Given the description of an element on the screen output the (x, y) to click on. 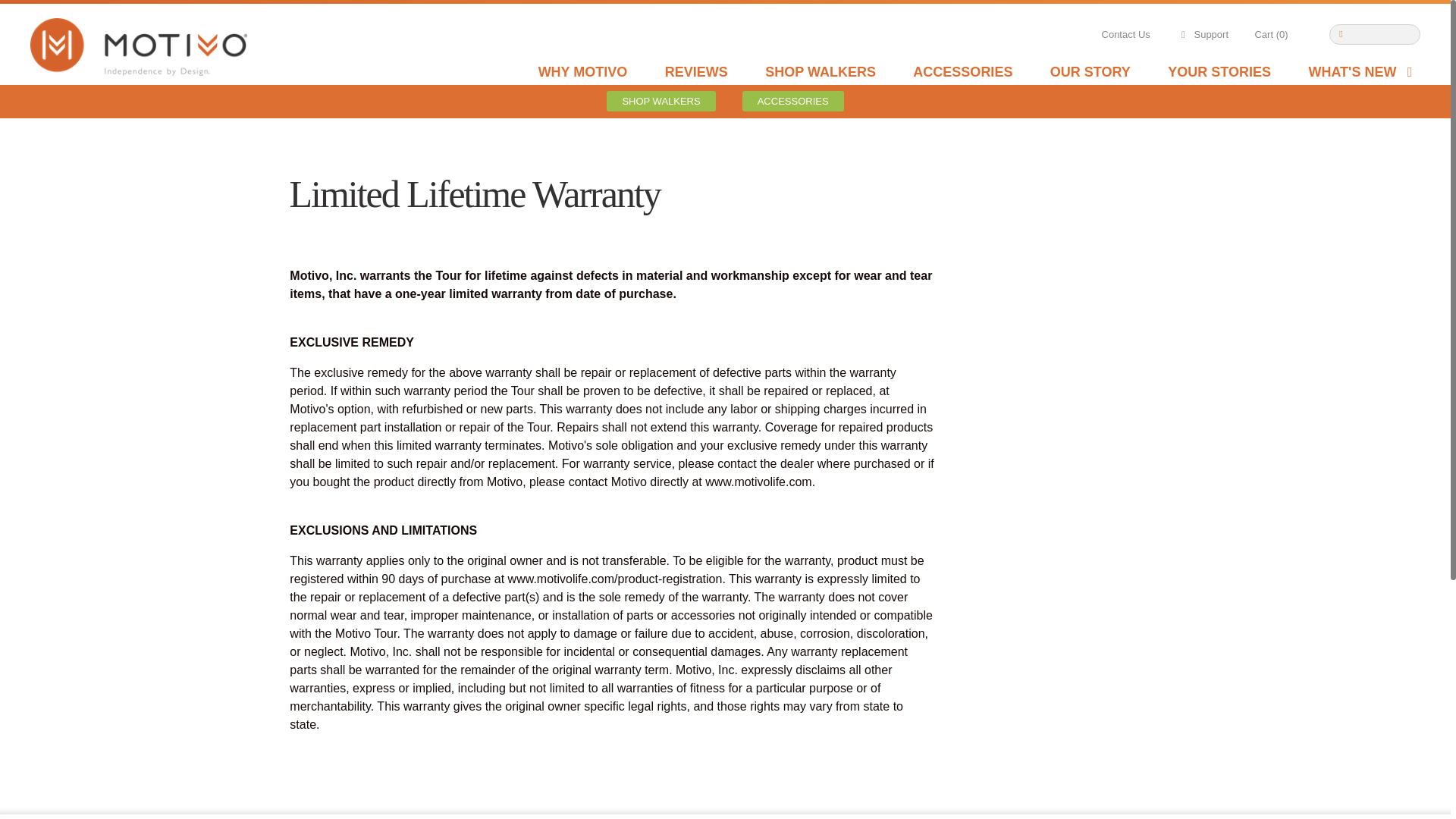
WHAT'S NEW (1362, 71)
ACCESSORIES (962, 71)
REVIEWS (696, 71)
OUR STORY (1090, 71)
ACCESSORIES (793, 100)
SHOP WALKERS (660, 100)
SHOP WALKERS (820, 71)
YOUR STORIES (1219, 71)
WHY MOTIVO (582, 71)
Support (1201, 34)
Contact Us (1125, 34)
